Given the description of an element on the screen output the (x, y) to click on. 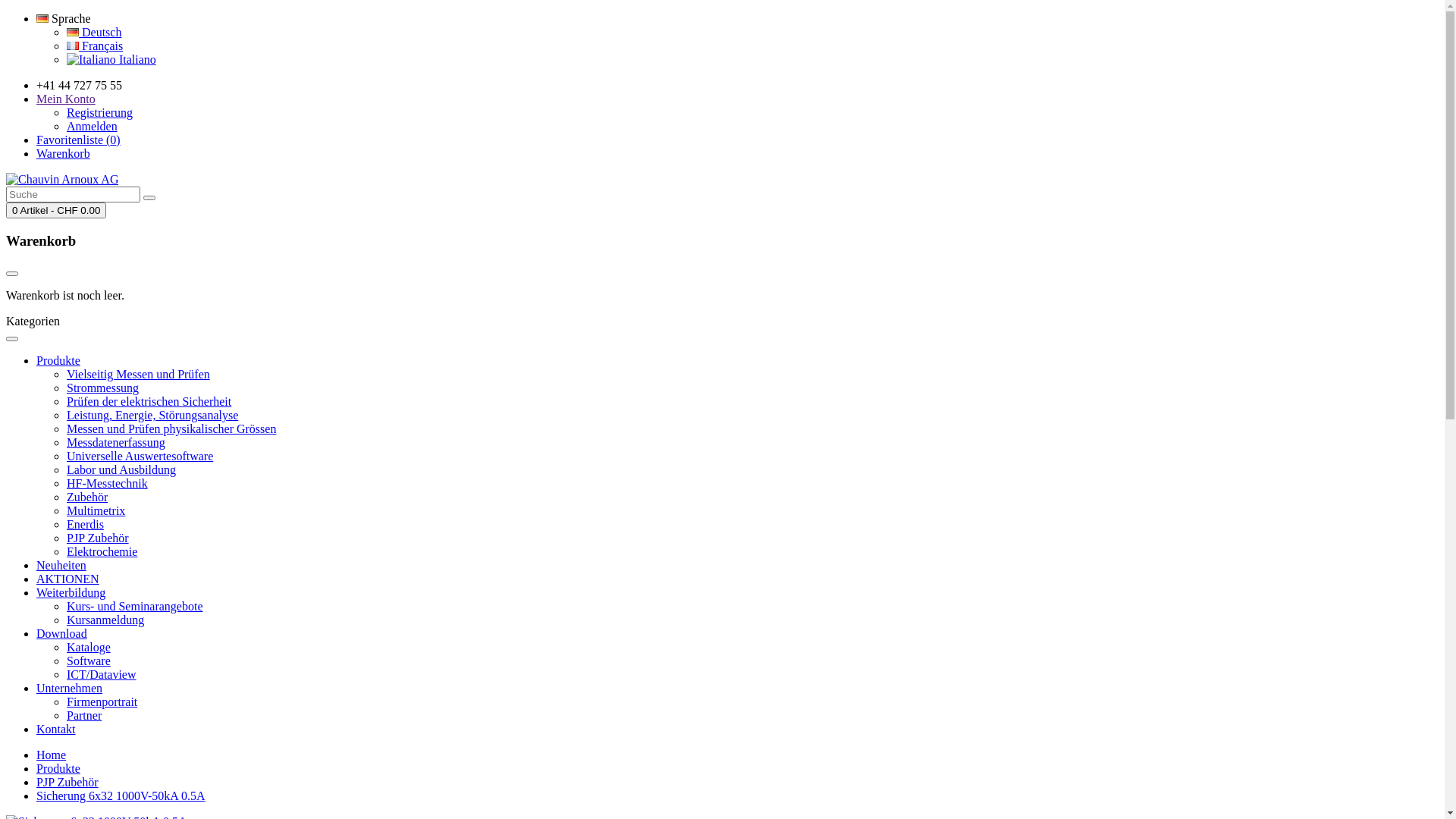
Firmenportrait Element type: text (101, 701)
Kataloge Element type: text (88, 646)
Favoritenliste (0) Element type: text (78, 139)
Kontakt Element type: text (55, 728)
Anmelden Element type: text (91, 125)
Deutsch Element type: text (93, 31)
Elektrochemie Element type: text (101, 551)
Kursanmeldung Element type: text (105, 619)
Unternehmen Element type: text (69, 687)
Produkte Element type: text (58, 360)
Messdatenerfassung Element type: text (115, 442)
Neuheiten Element type: text (61, 564)
Weiterbildung Element type: text (70, 592)
Labor und Ausbildung Element type: text (120, 469)
Italiano Element type: text (111, 59)
0 Artikel - CHF 0.00 Element type: text (56, 210)
Enerdis Element type: text (84, 523)
Warenkorb Element type: text (63, 153)
Strommessung Element type: text (102, 387)
Partner Element type: text (83, 715)
HF-Messtechnik Element type: text (106, 482)
Deutsch Element type: hover (72, 32)
Home Element type: text (50, 754)
Mein Konto Element type: text (65, 98)
Download Element type: text (61, 633)
Software Element type: text (88, 660)
Sicherung 6x32 1000V-50kA 0.5A Element type: text (120, 795)
Sprache Element type: text (63, 18)
ICT/Dataview Element type: text (101, 674)
AKTIONEN Element type: text (67, 578)
Produkte Element type: text (58, 768)
Multimetrix Element type: text (95, 510)
Italiano Element type: hover (91, 59)
Deutsch Element type: hover (42, 18)
Registrierung Element type: text (99, 112)
Universelle Auswertesoftware Element type: text (139, 455)
Chauvin Arnoux AG Element type: hover (62, 179)
Kurs- und Seminarangebote Element type: text (134, 605)
